Given the description of an element on the screen output the (x, y) to click on. 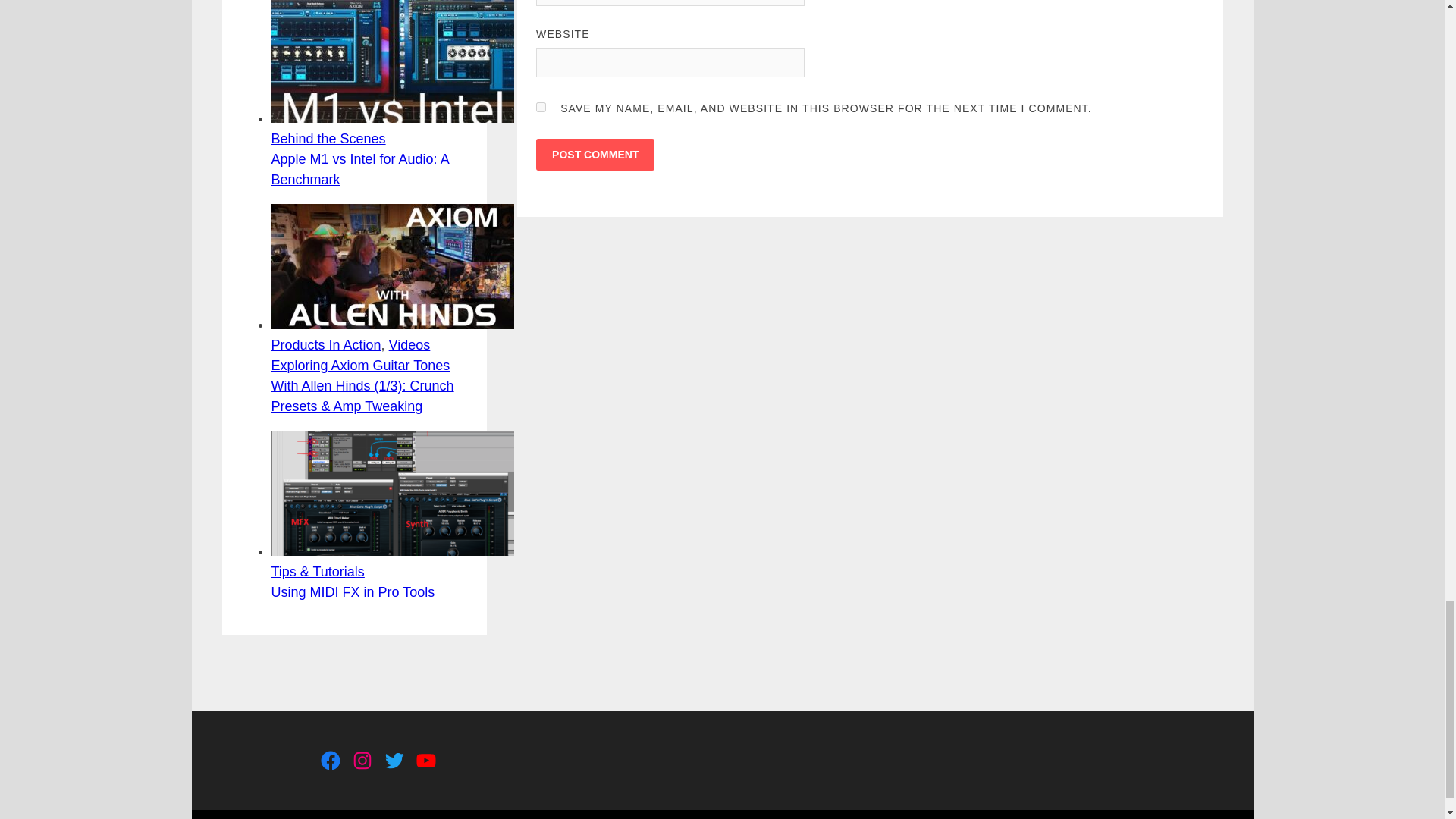
yes (540, 107)
Post Comment (594, 154)
Post Comment (594, 154)
